Given the description of an element on the screen output the (x, y) to click on. 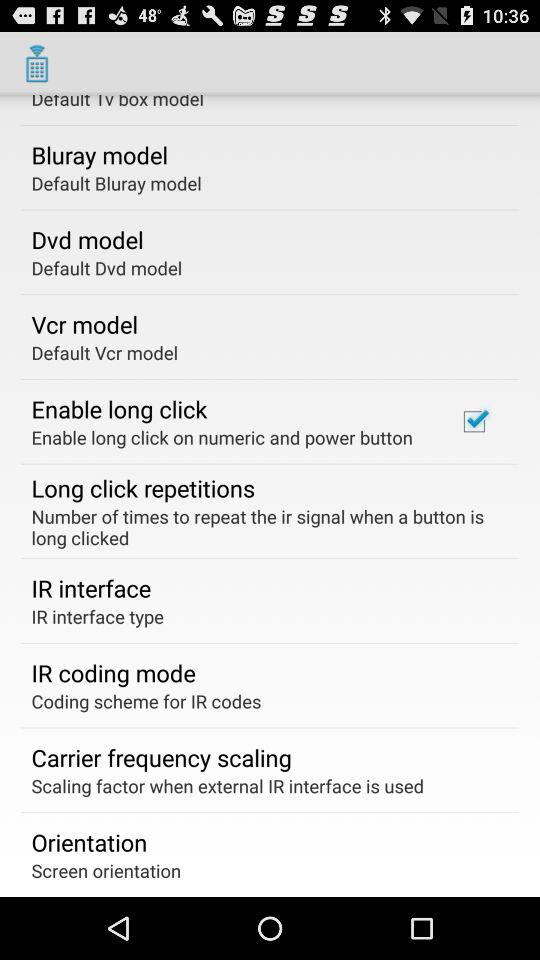
turn on item below the long click repetitions item (263, 526)
